Given the description of an element on the screen output the (x, y) to click on. 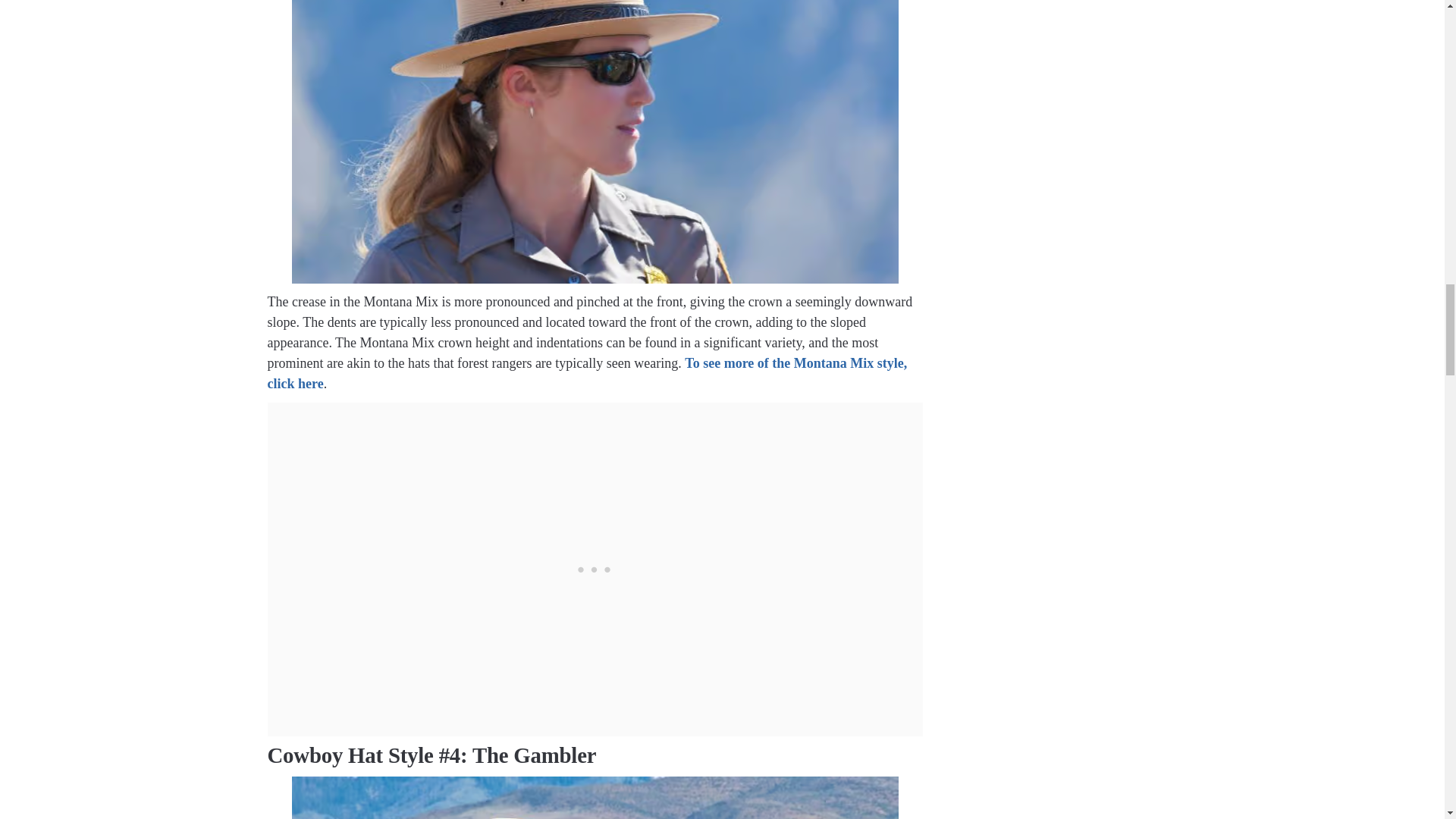
To see more of the Montana Mix style, click here (586, 373)
